Given the description of an element on the screen output the (x, y) to click on. 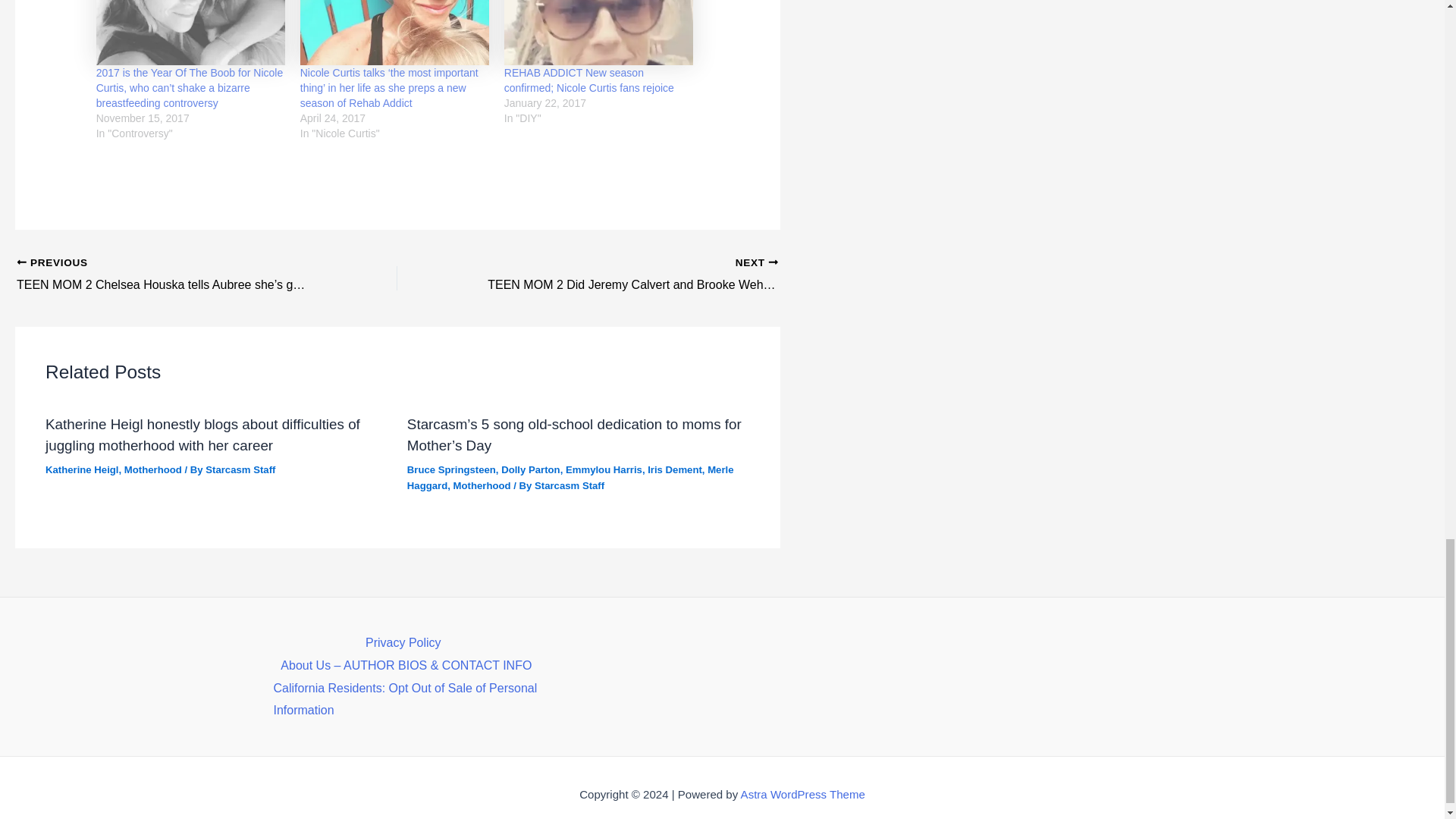
TEEN MOM 2 Did Jeremy Calvert and Brooke Wehr break up? (624, 274)
View all posts by Starcasm Staff (569, 485)
View all posts by Starcasm Staff (240, 469)
